Given the description of an element on the screen output the (x, y) to click on. 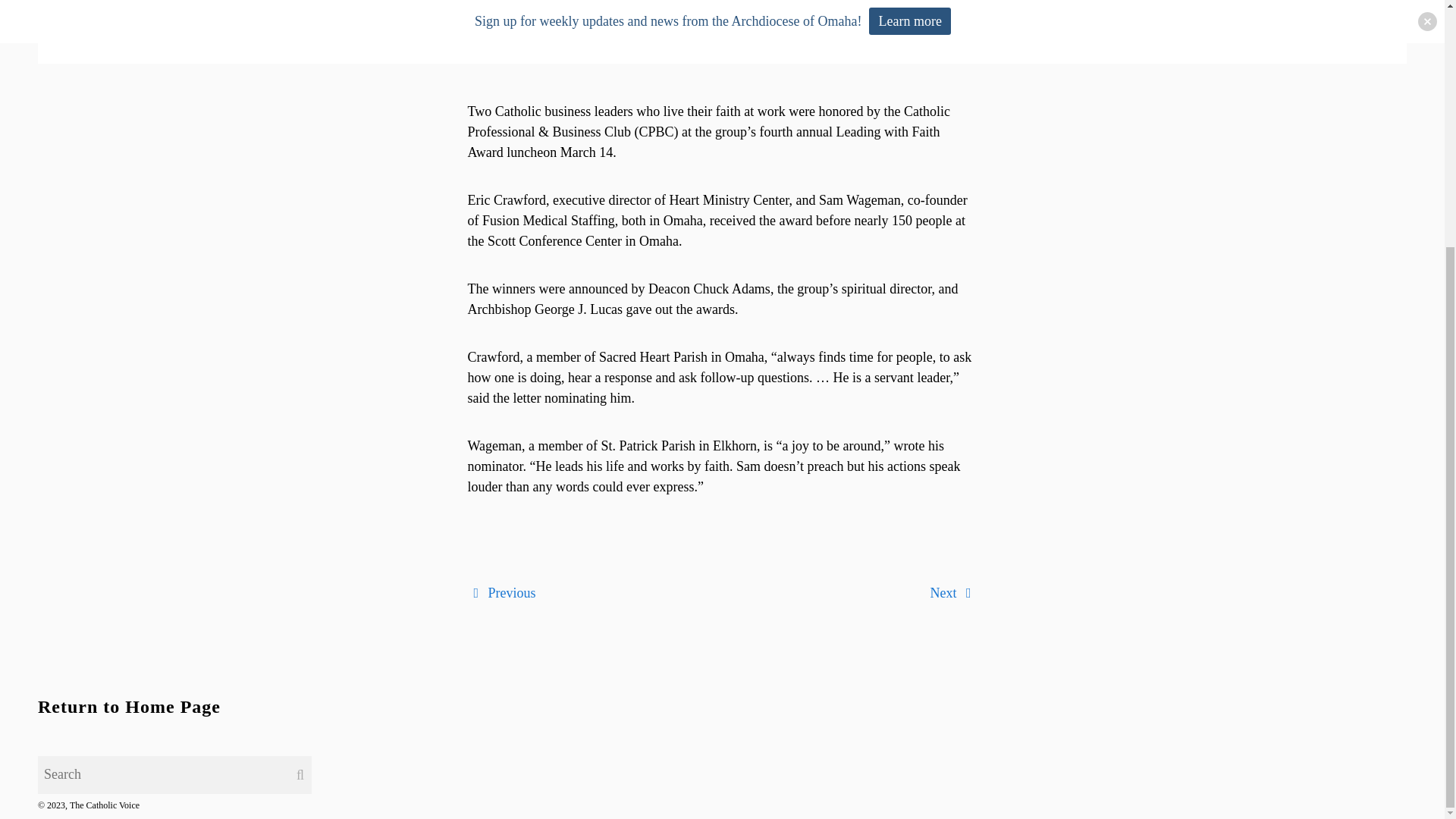
Posts by Catholic Voice (542, 14)
Return to Home Page (129, 706)
Previous (501, 592)
Catholic Voice (542, 39)
Next (953, 592)
